Given the description of an element on the screen output the (x, y) to click on. 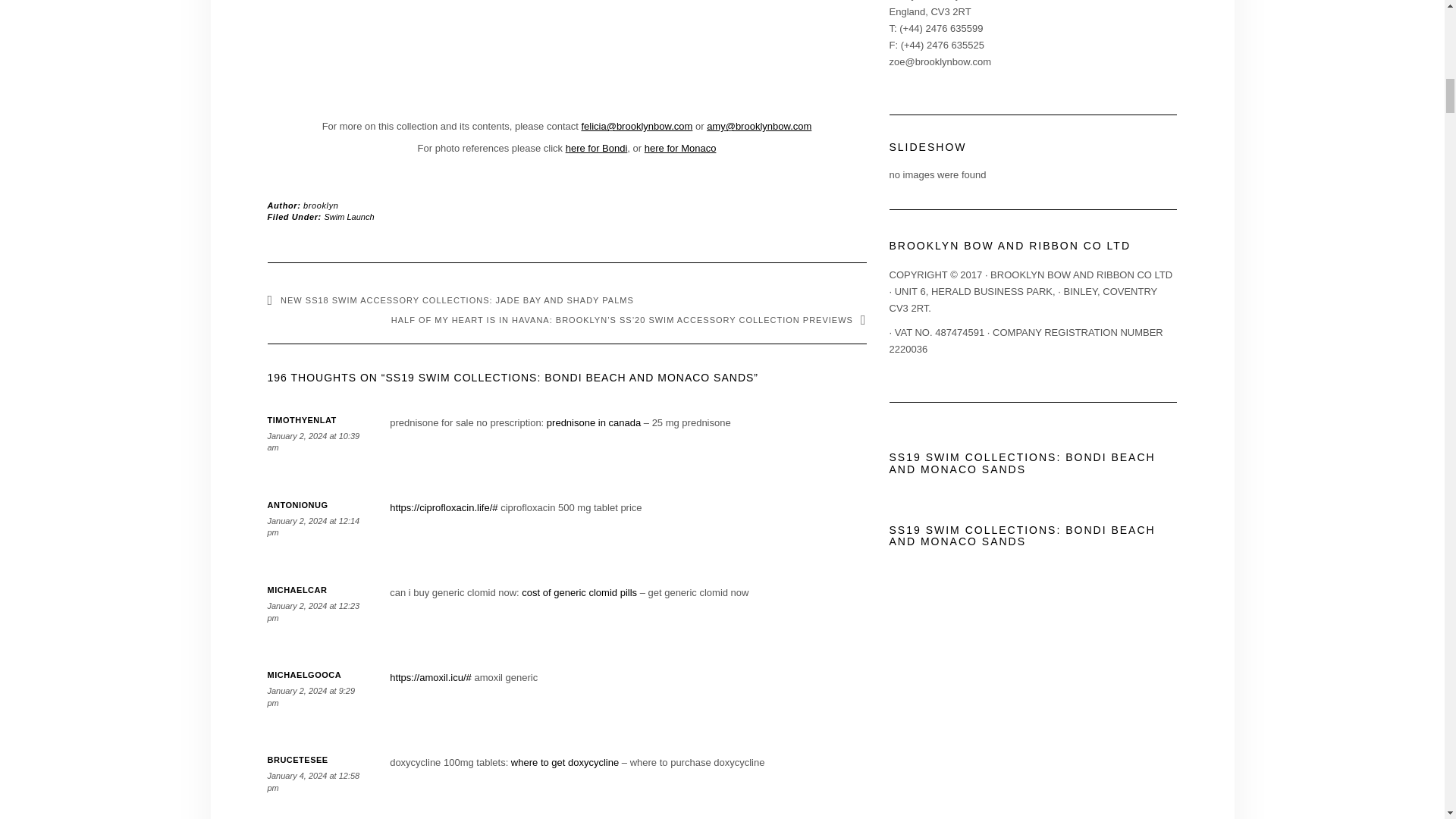
here for Bondi (596, 147)
January 2, 2024 at 12:23 pm (312, 611)
prednisone in canada (593, 422)
January 4, 2024 at 12:58 pm (312, 781)
Swim Launch (349, 216)
January 2, 2024 at 10:39 am (312, 441)
January 2, 2024 at 12:14 pm (312, 526)
cost of generic clomid pills (579, 592)
January 2, 2024 at 9:29 pm (310, 696)
here for Monaco (680, 147)
